Given the description of an element on the screen output the (x, y) to click on. 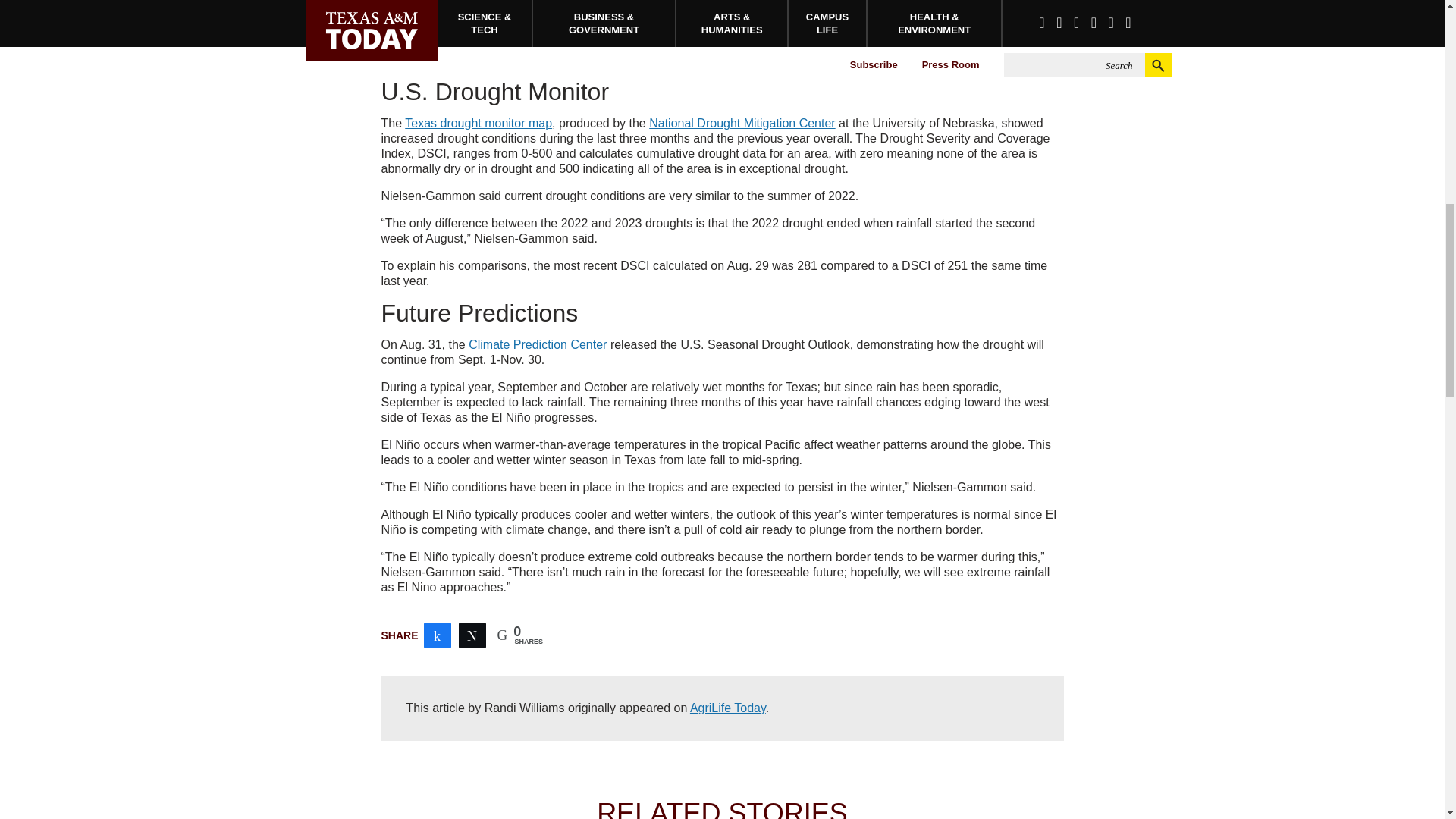
Climate Prediction Center  (539, 344)
AgriLife Today (727, 707)
National Drought Mitigation Center (741, 123)
Texas drought monitor map (477, 123)
